Given the description of an element on the screen output the (x, y) to click on. 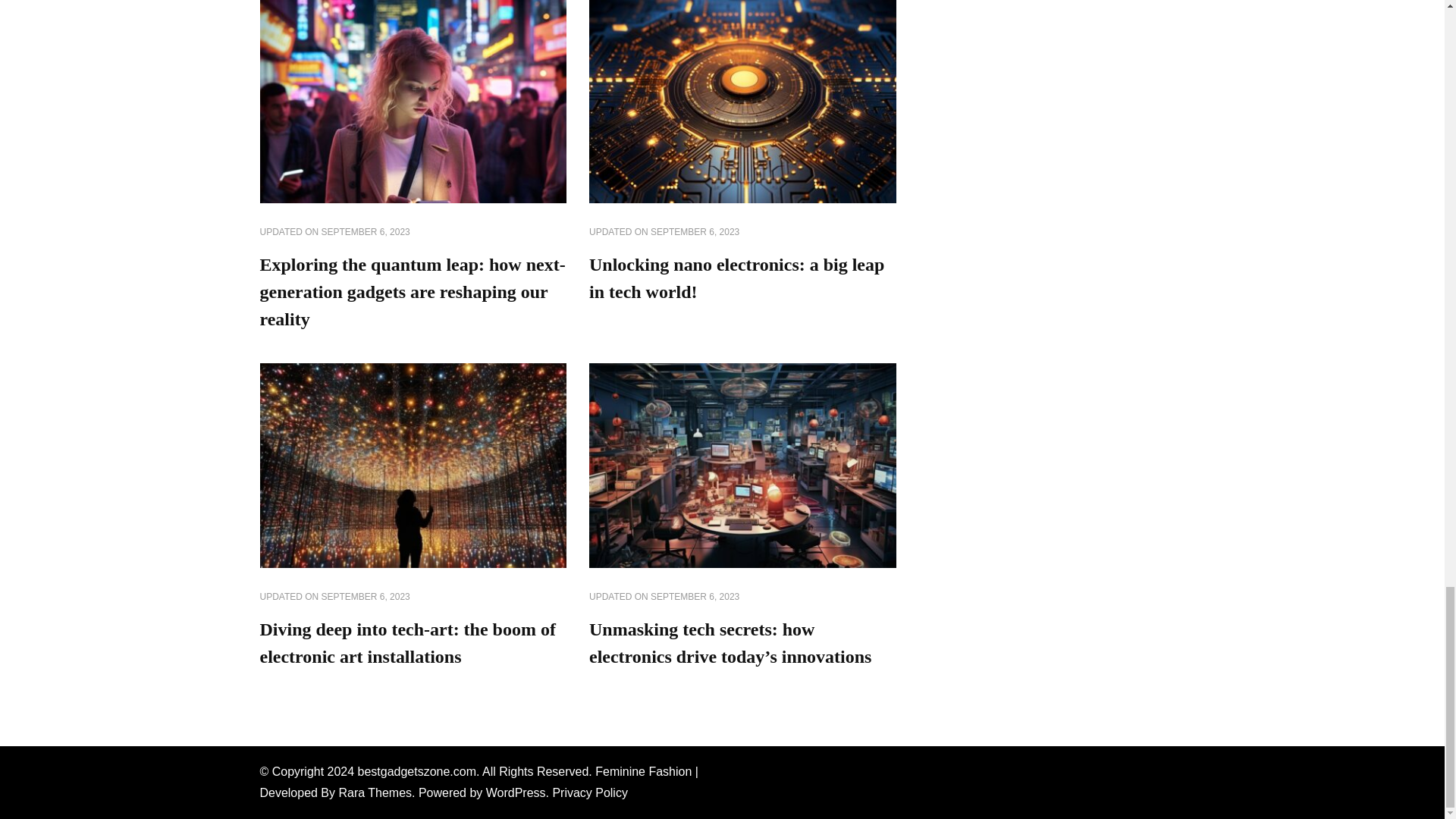
SEPTEMBER 6, 2023 (694, 232)
SEPTEMBER 6, 2023 (365, 232)
SEPTEMBER 6, 2023 (365, 597)
Unlocking nano electronics: a big leap in tech world! (736, 278)
SEPTEMBER 6, 2023 (694, 597)
